Given the description of an element on the screen output the (x, y) to click on. 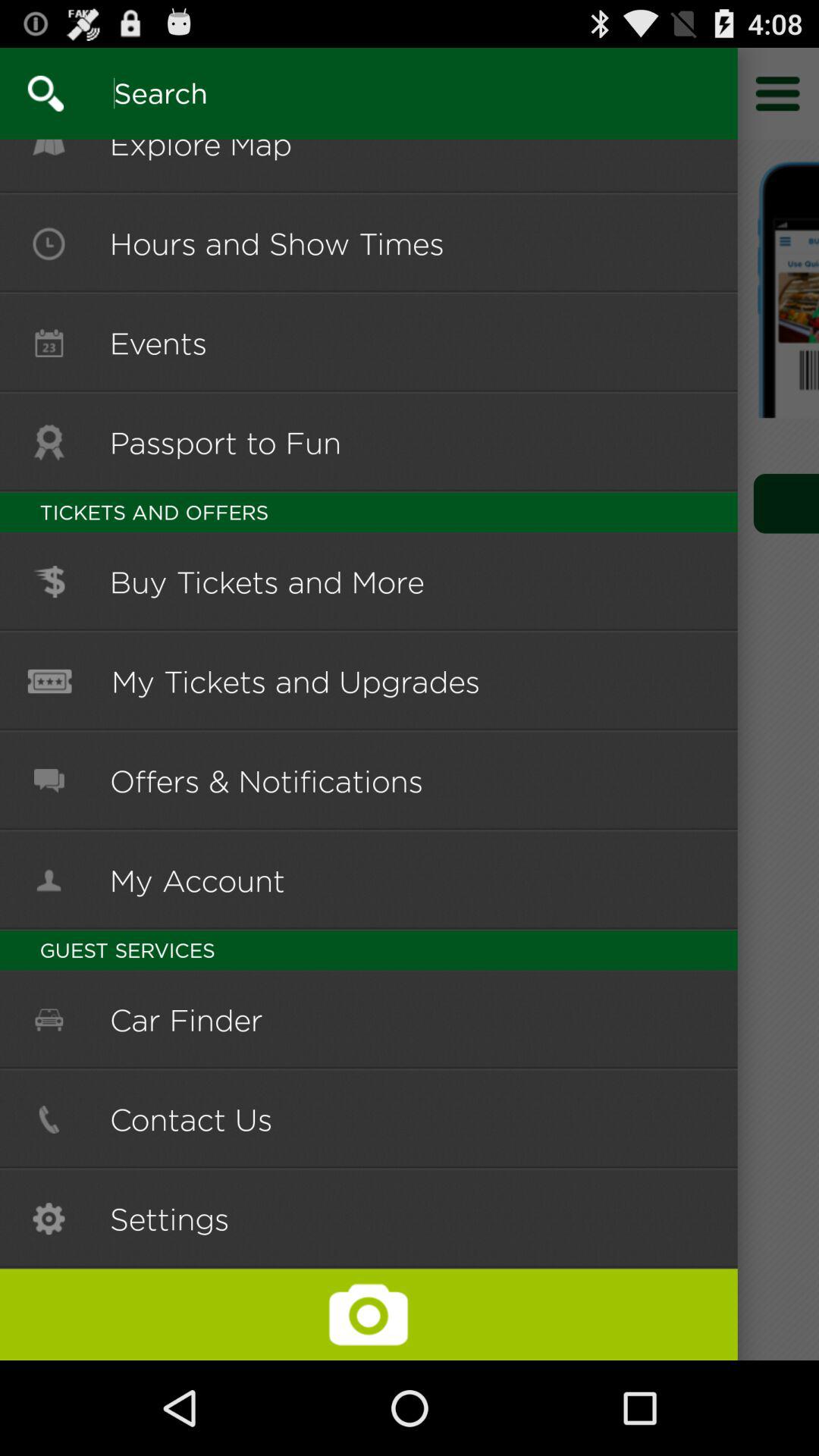
access additional options (778, 93)
